Given the description of an element on the screen output the (x, y) to click on. 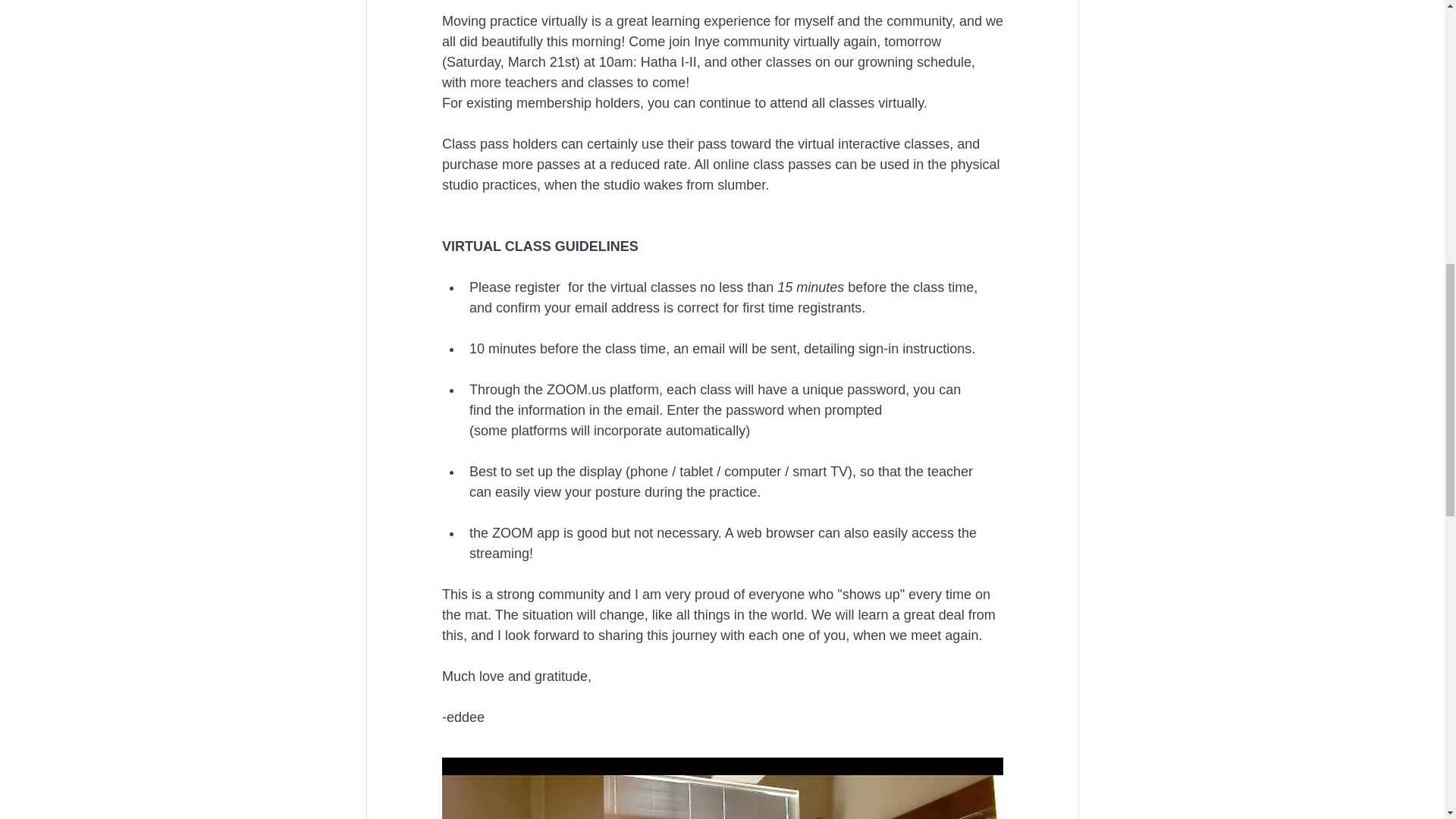
ZOOM.us (576, 389)
